Given the description of an element on the screen output the (x, y) to click on. 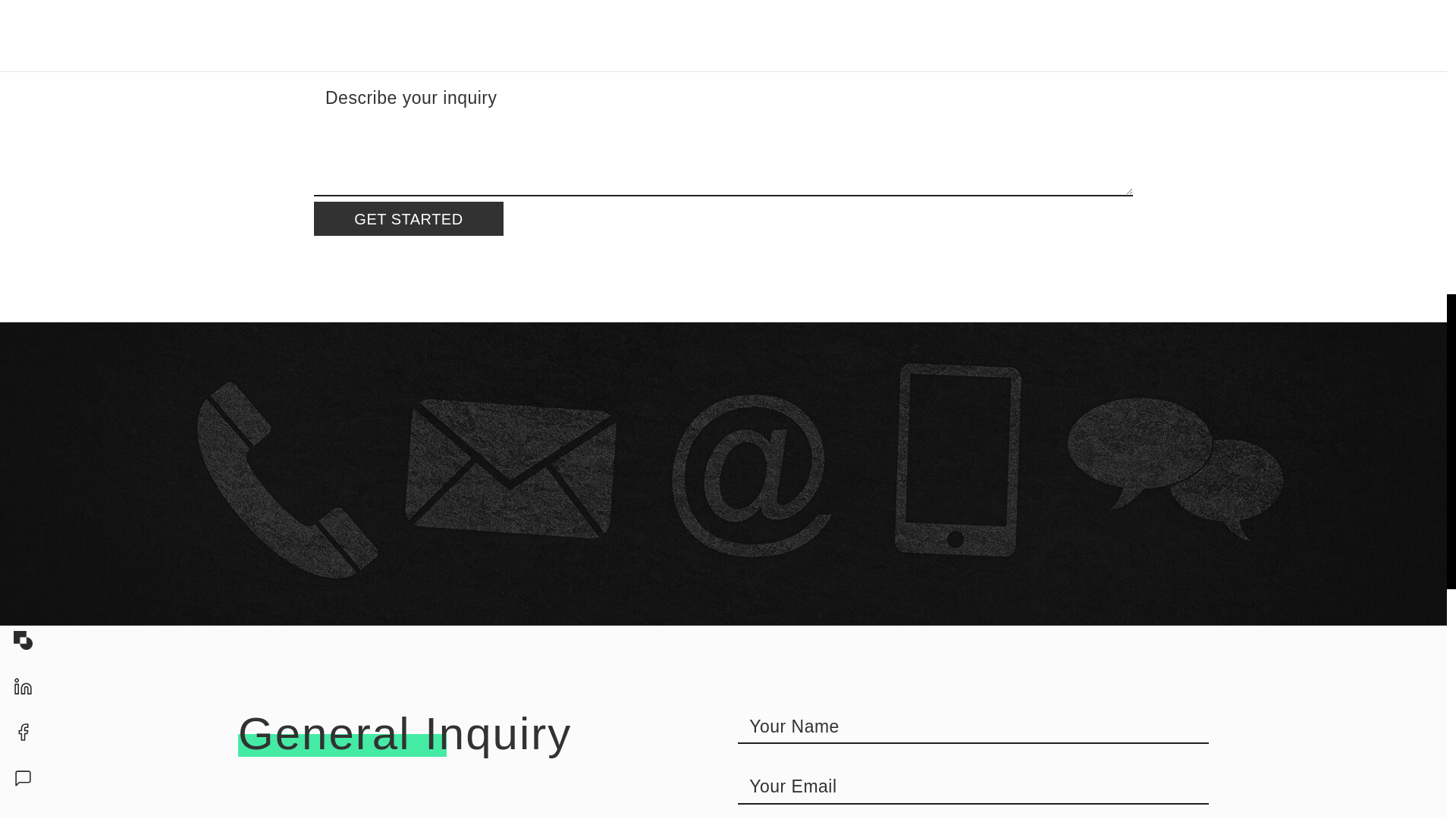
Get started (408, 218)
Get started (408, 218)
